Given the description of an element on the screen output the (x, y) to click on. 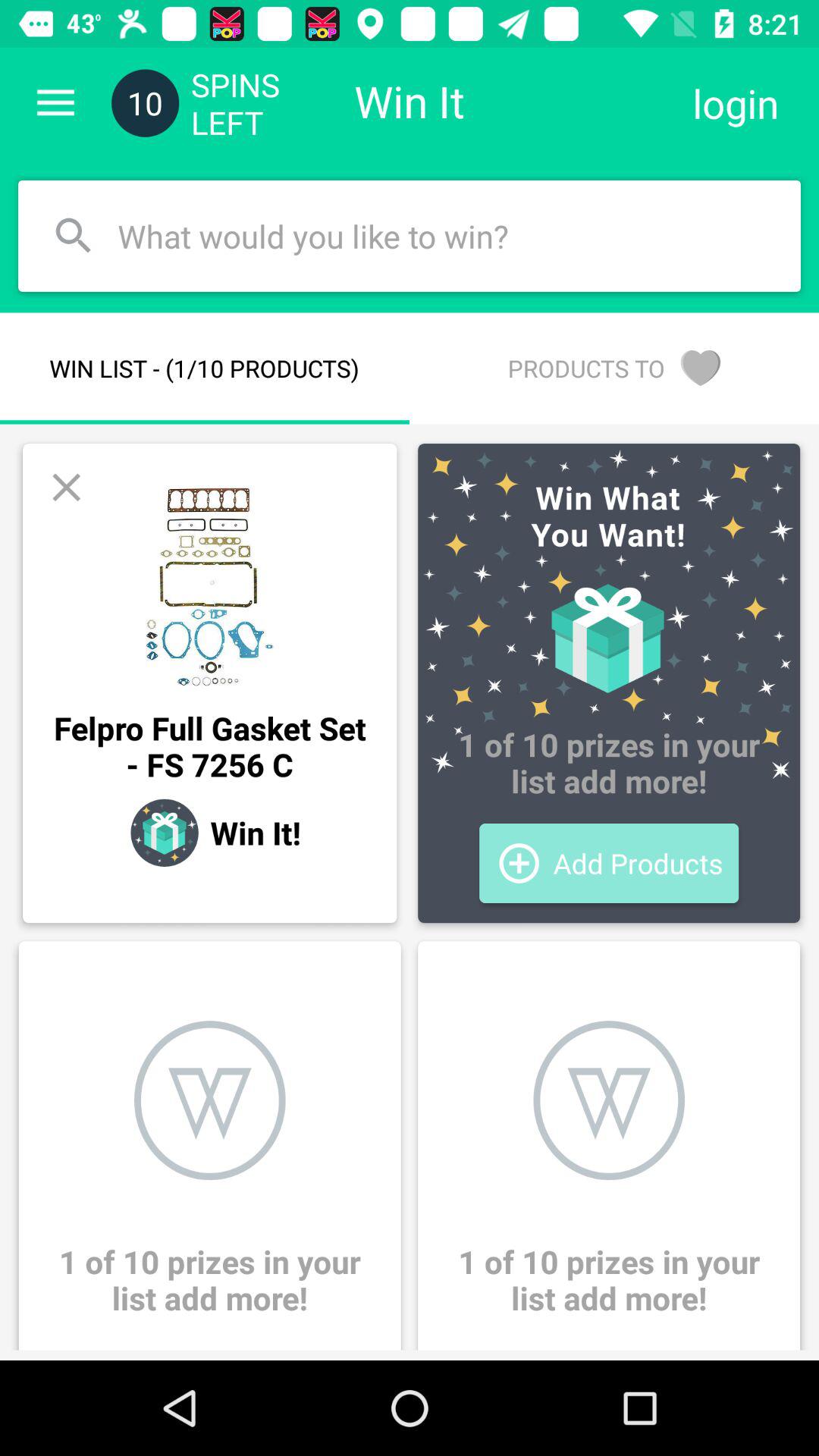
click item above products to  icon (735, 102)
